Given the description of an element on the screen output the (x, y) to click on. 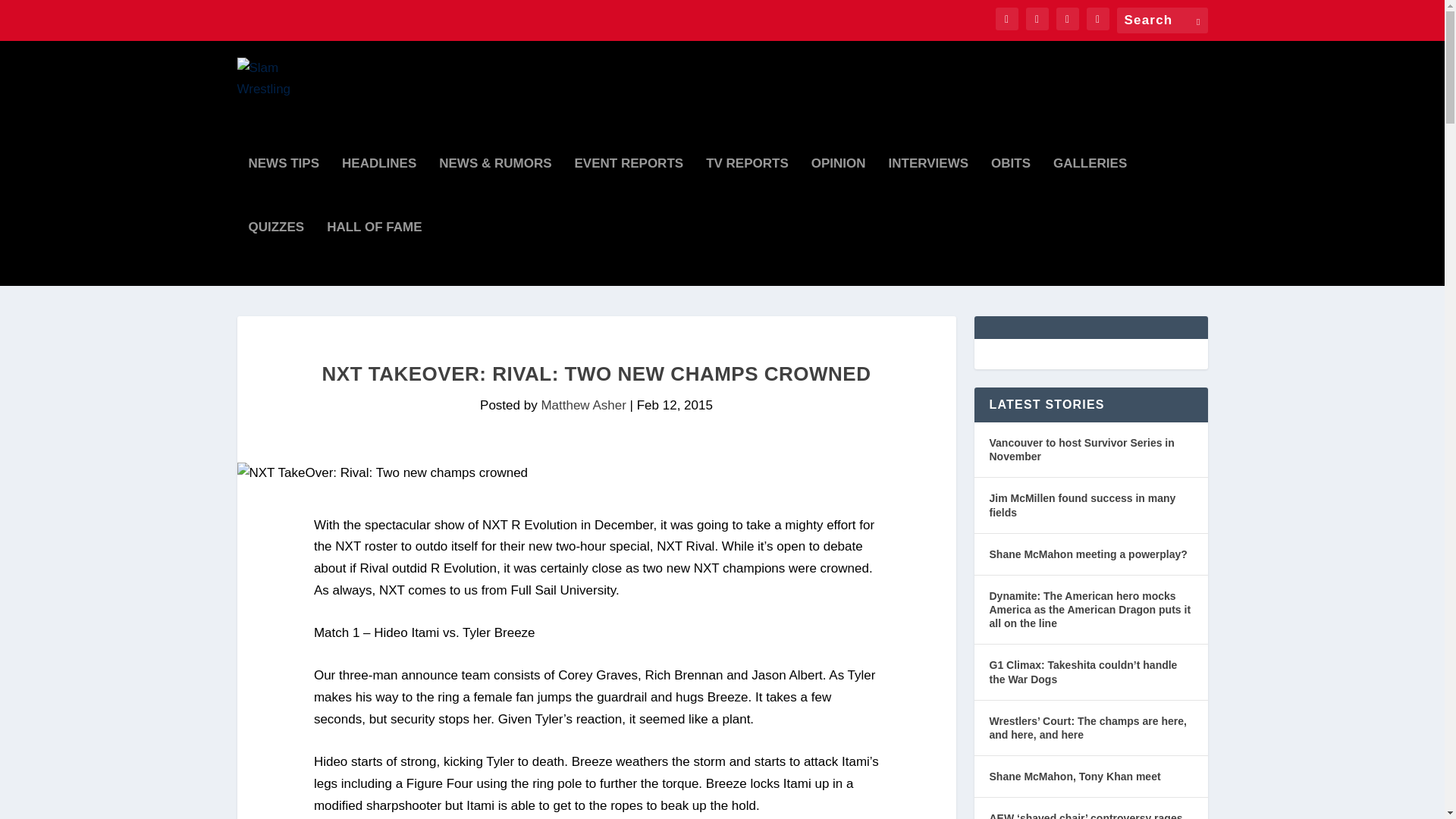
EVENT REPORTS (629, 189)
Shane McMahon meeting a powerplay? (1087, 554)
INTERVIEWS (928, 189)
Posts by Matthew Asher (583, 405)
NEWS TIPS (284, 189)
Vancouver to host Survivor Series in November (1090, 450)
Matthew Asher (583, 405)
HEADLINES (379, 189)
TV REPORTS (747, 189)
GALLERIES (1089, 189)
